Given the description of an element on the screen output the (x, y) to click on. 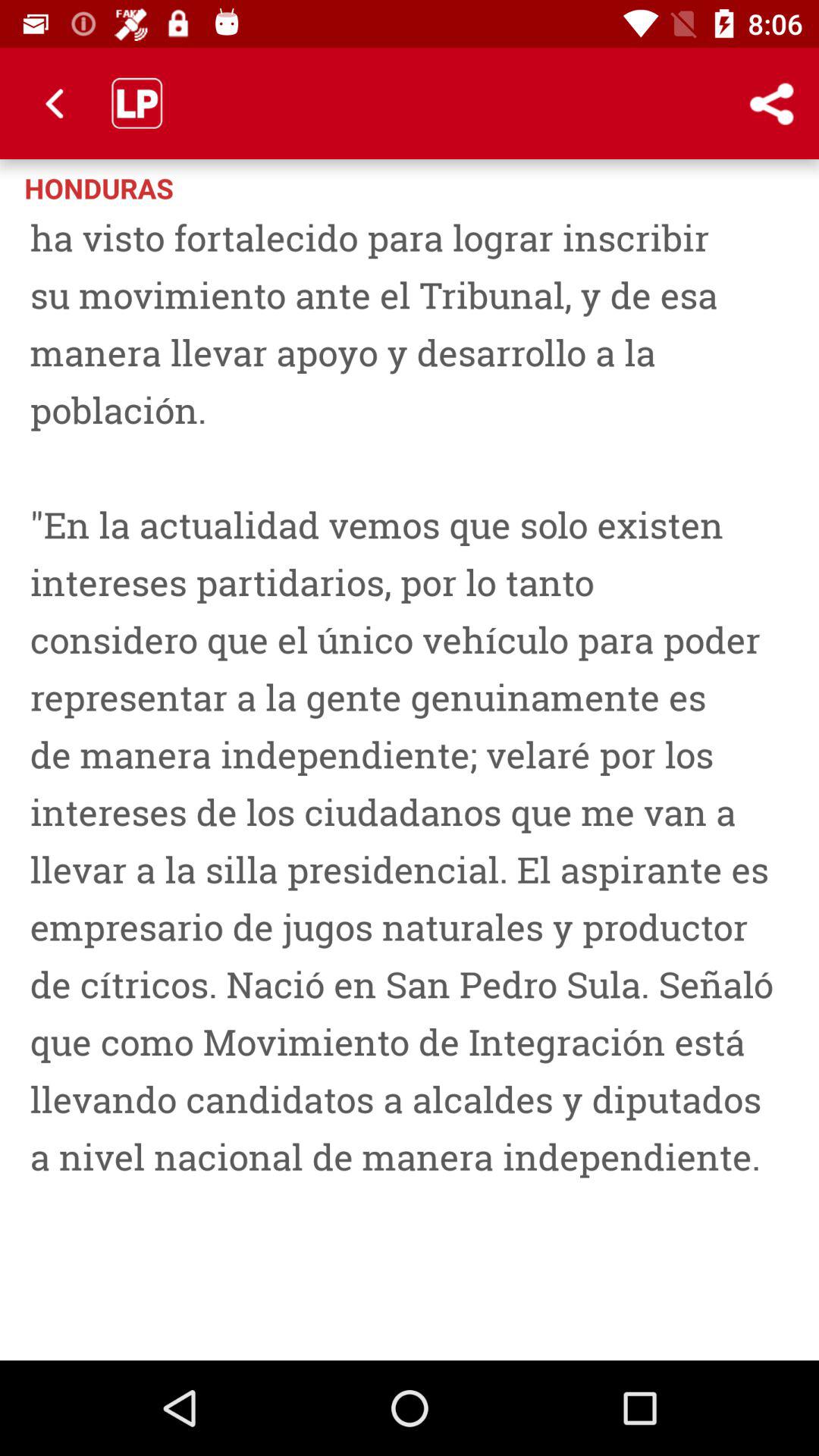
choose the item to the right of the honduras item (709, 186)
